Given the description of an element on the screen output the (x, y) to click on. 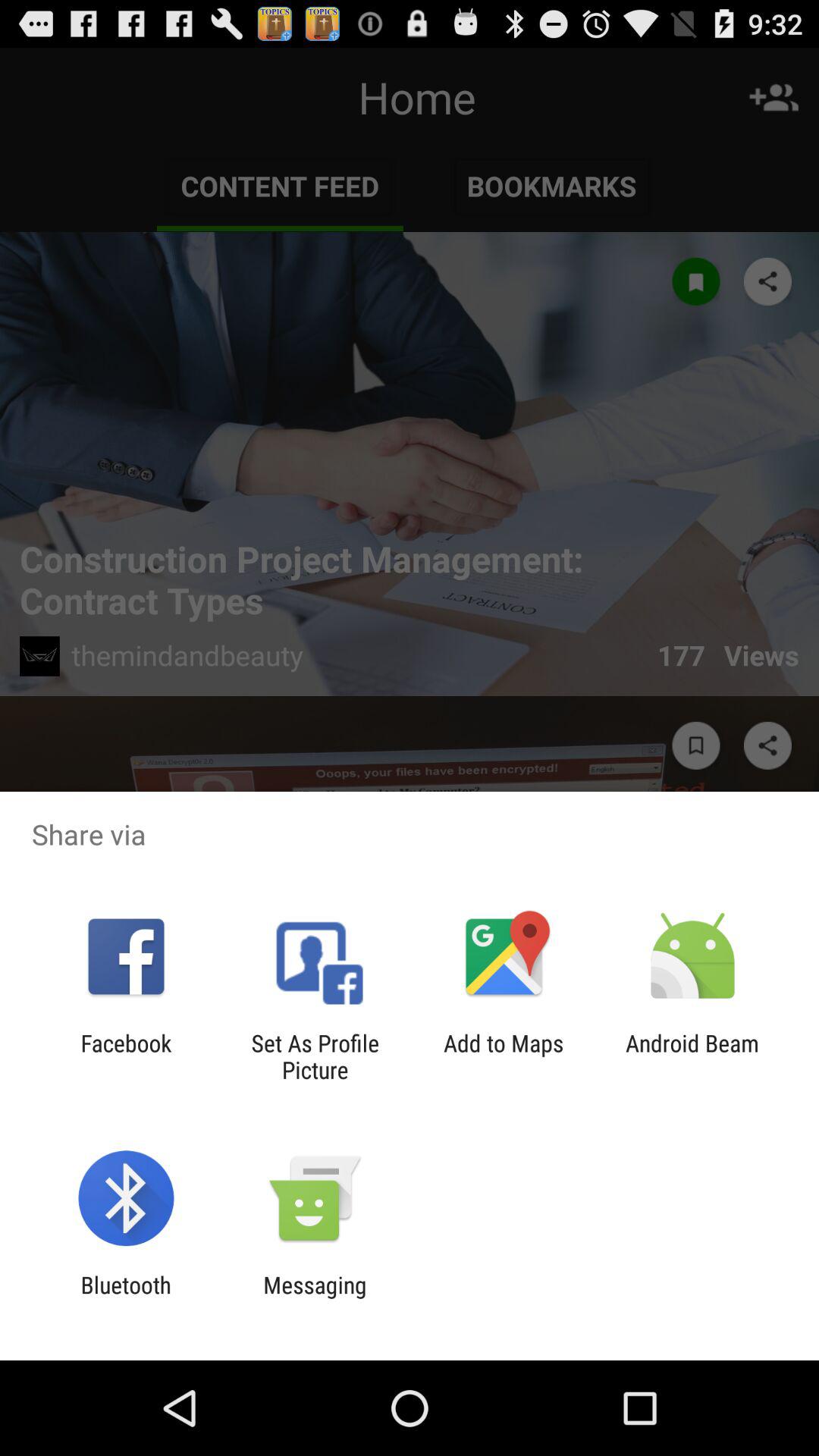
turn on the app to the left of add to maps item (314, 1056)
